Given the description of an element on the screen output the (x, y) to click on. 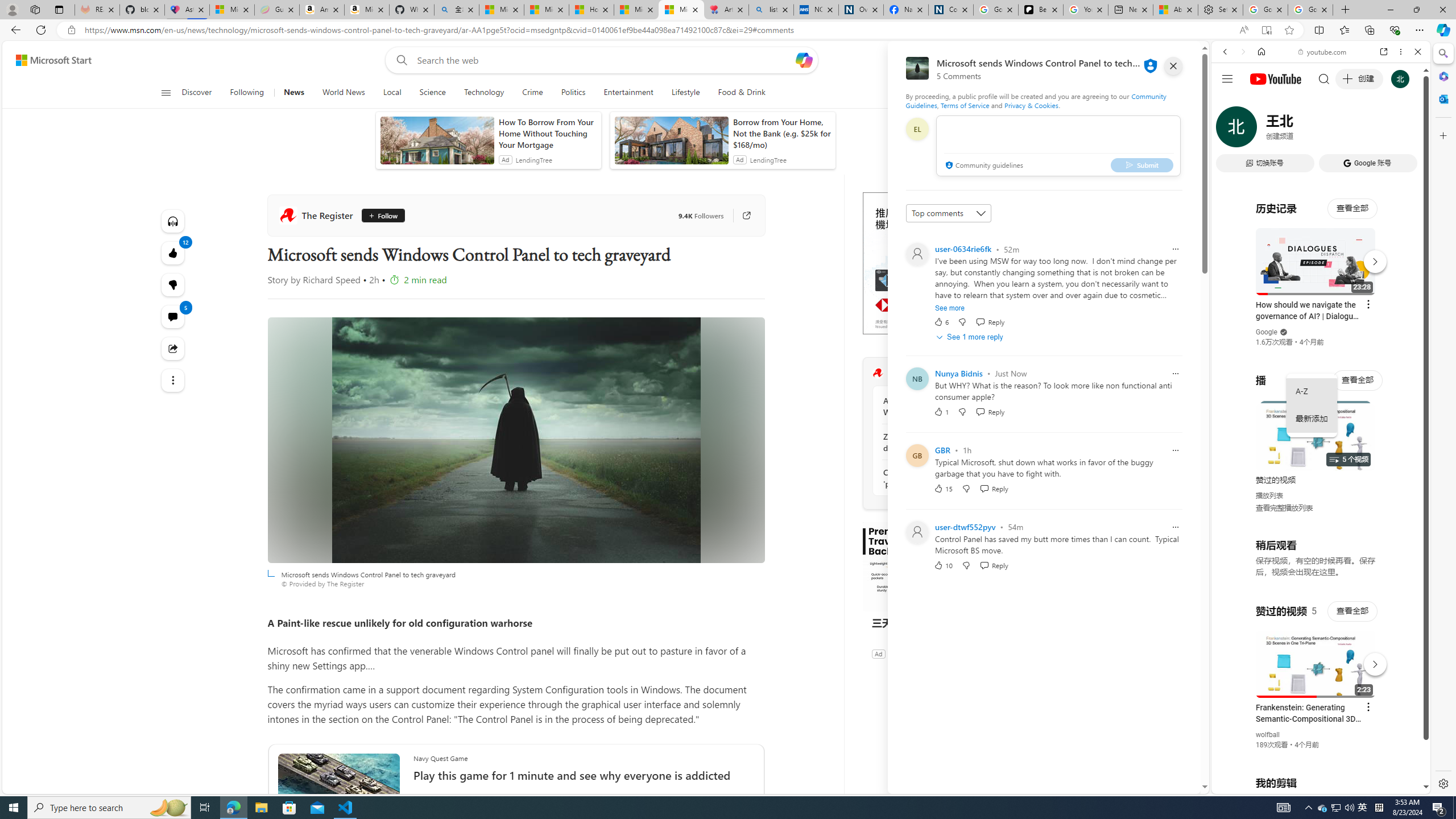
Politics (573, 92)
user-0634rie6fk (962, 248)
Class: dict_pnIcon rms_img (1312, 784)
#you (1315, 659)
YouTube (1315, 655)
Microsoft sends Windows Control Panel to tech graveyard (681, 9)
Local (391, 92)
Forward (1242, 51)
